Given the description of an element on the screen output the (x, y) to click on. 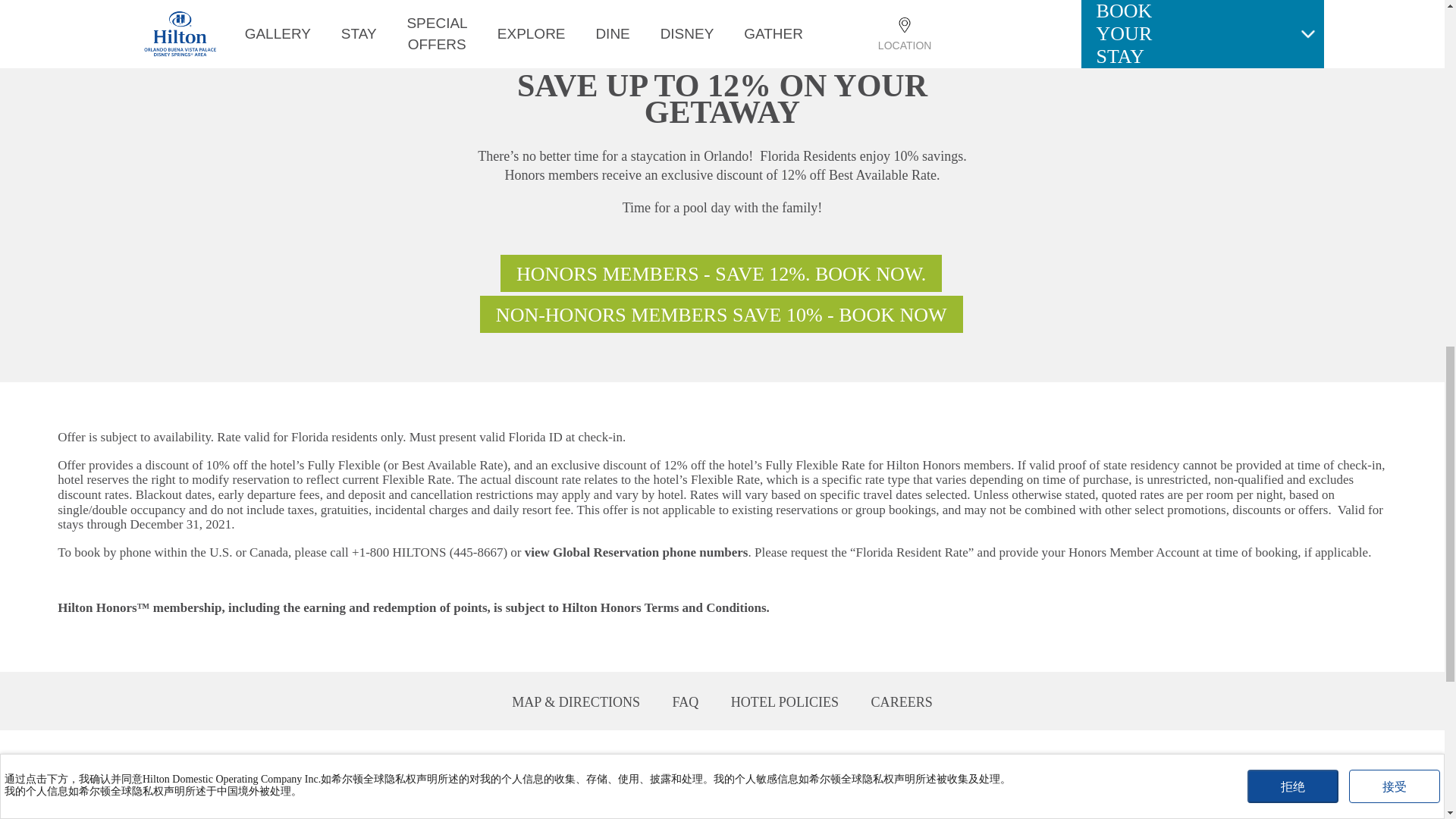
view Global Reservation phone numbers (636, 552)
Conditions. (738, 607)
